Given the description of an element on the screen output the (x, y) to click on. 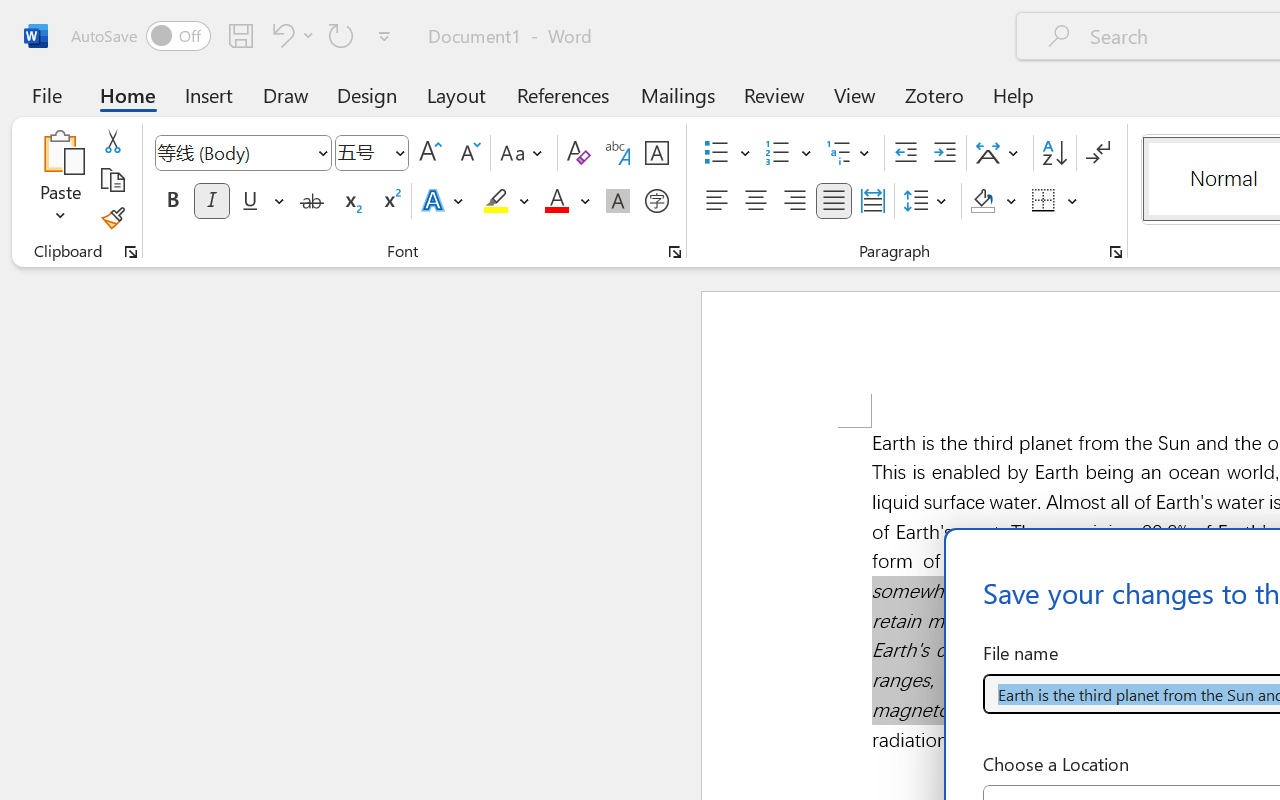
Undo Italic (280, 35)
Strikethrough (312, 201)
Align Left (716, 201)
Distributed (872, 201)
Enclose Characters... (656, 201)
Font... (675, 252)
Cut (112, 141)
Line and Paragraph Spacing (927, 201)
Multilevel List (850, 153)
